Given the description of an element on the screen output the (x, y) to click on. 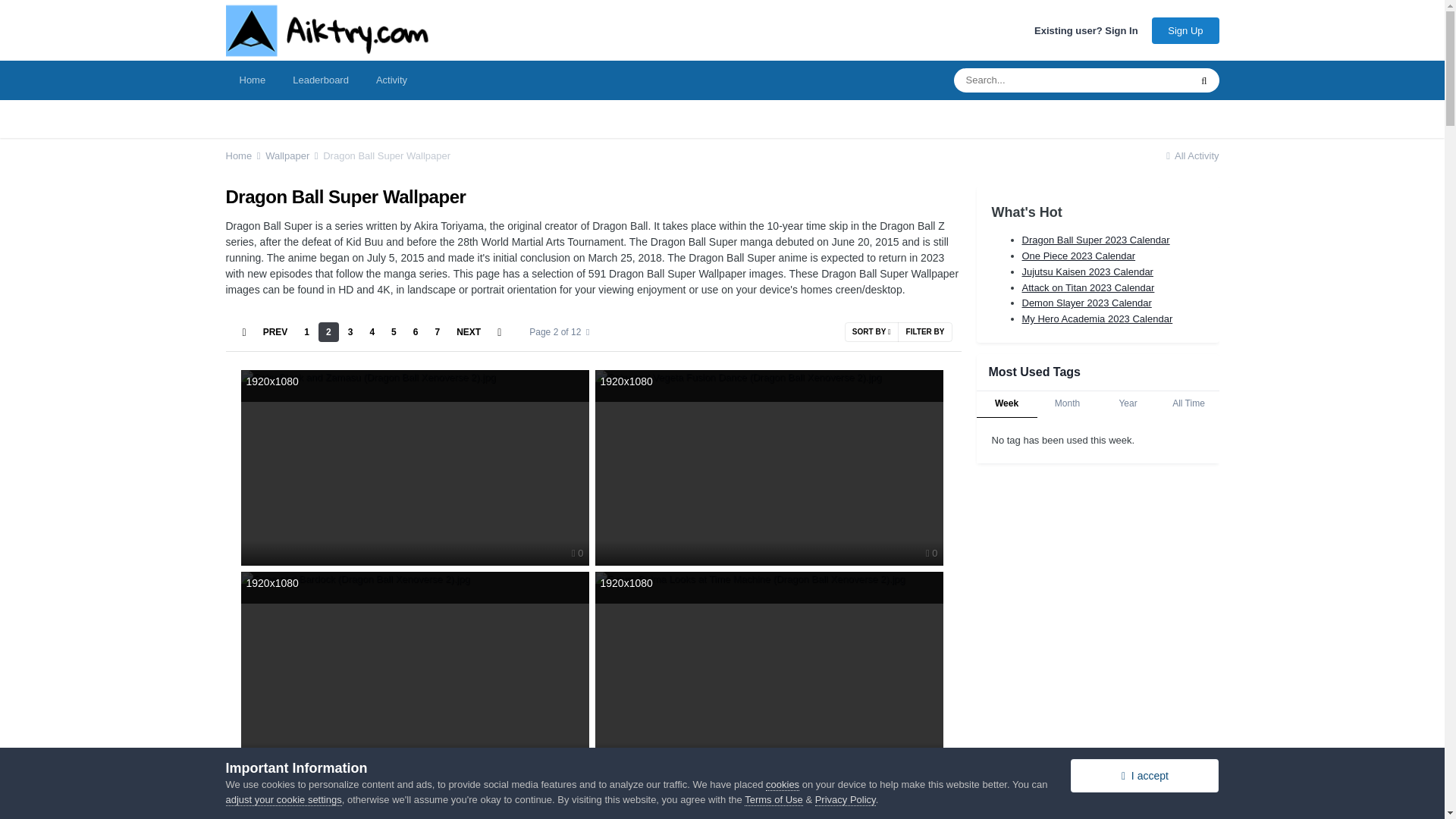
PREV (275, 332)
Dragon Ball Super Wallpaper (386, 155)
Sign Up (1184, 29)
Existing user? Sign In (1085, 30)
Previous page (275, 332)
2 (328, 332)
6 (416, 332)
Leaderboard (320, 79)
Page 2 of 12   (558, 332)
3 (350, 332)
